Given the description of an element on the screen output the (x, y) to click on. 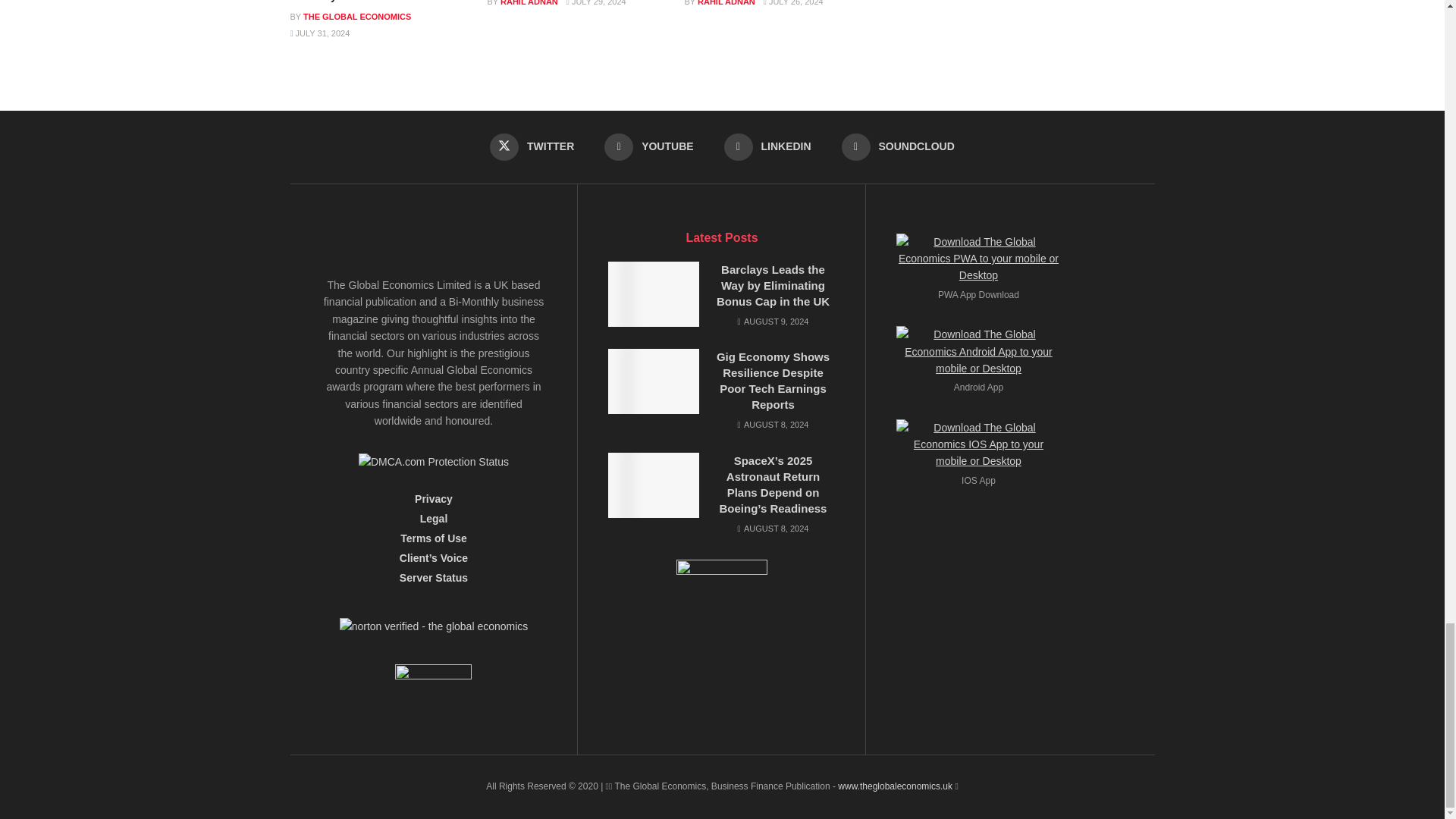
The Global Economics UK (895, 786)
Norton Verified (433, 630)
DMCA.com Protection Status (433, 460)
